Given the description of an element on the screen output the (x, y) to click on. 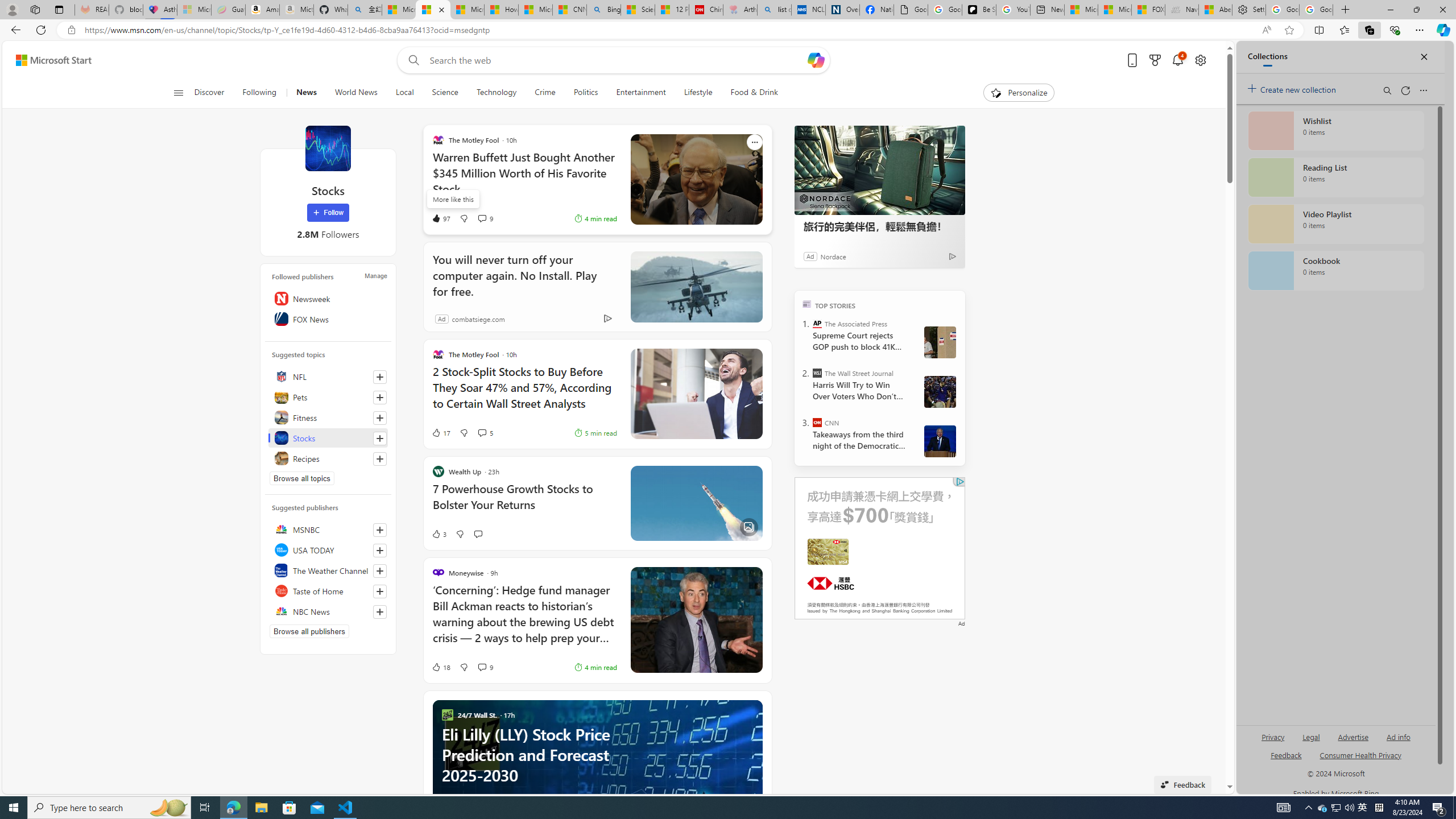
View comments 9 Comment (485, 667)
Browse all publishers (309, 631)
MSNBC (327, 529)
18 Like (440, 667)
